Given the description of an element on the screen output the (x, y) to click on. 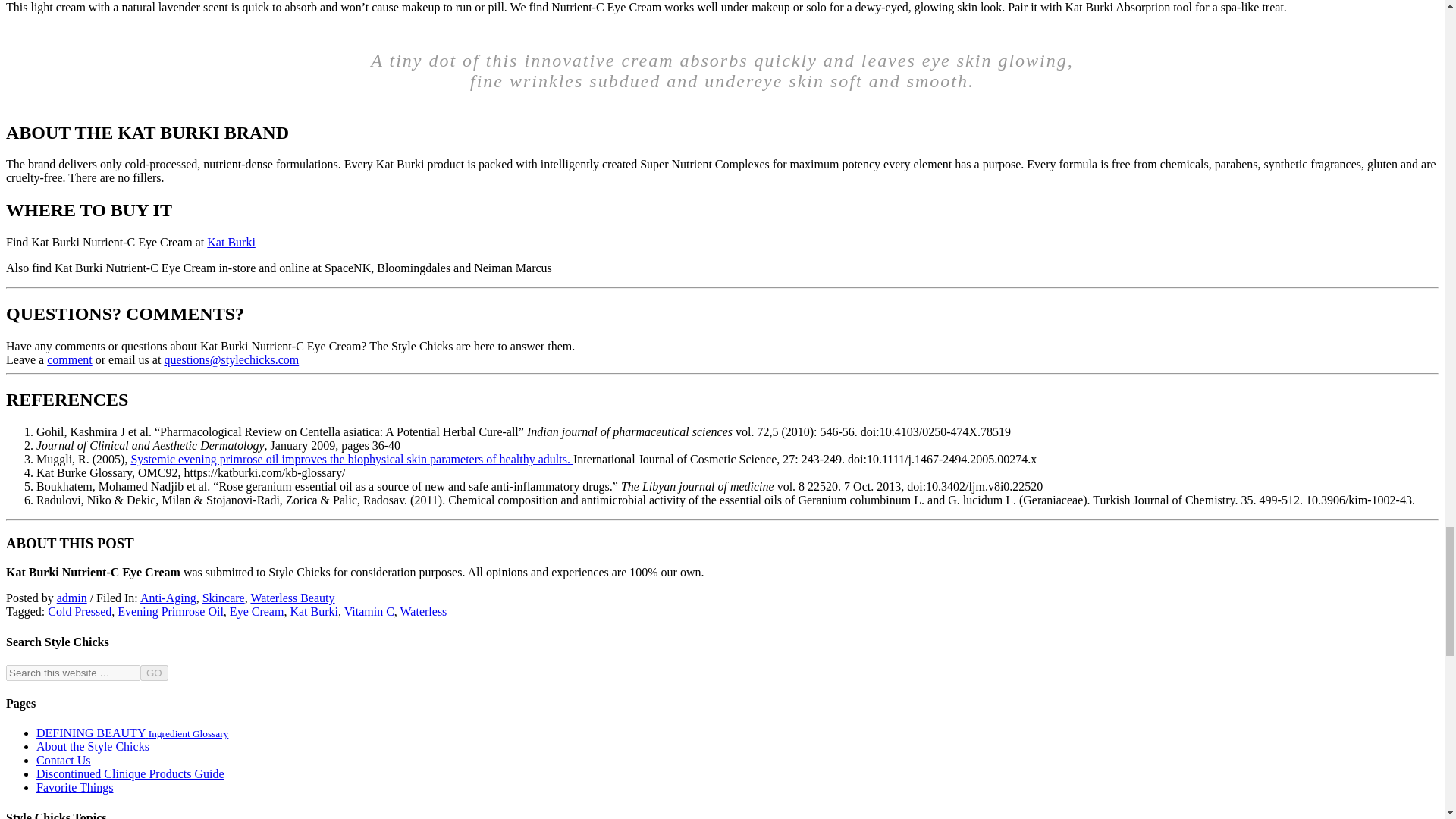
comment (69, 359)
Anti-Aging (167, 597)
admin (71, 597)
GO (153, 672)
Kat Burki (231, 241)
